Given the description of an element on the screen output the (x, y) to click on. 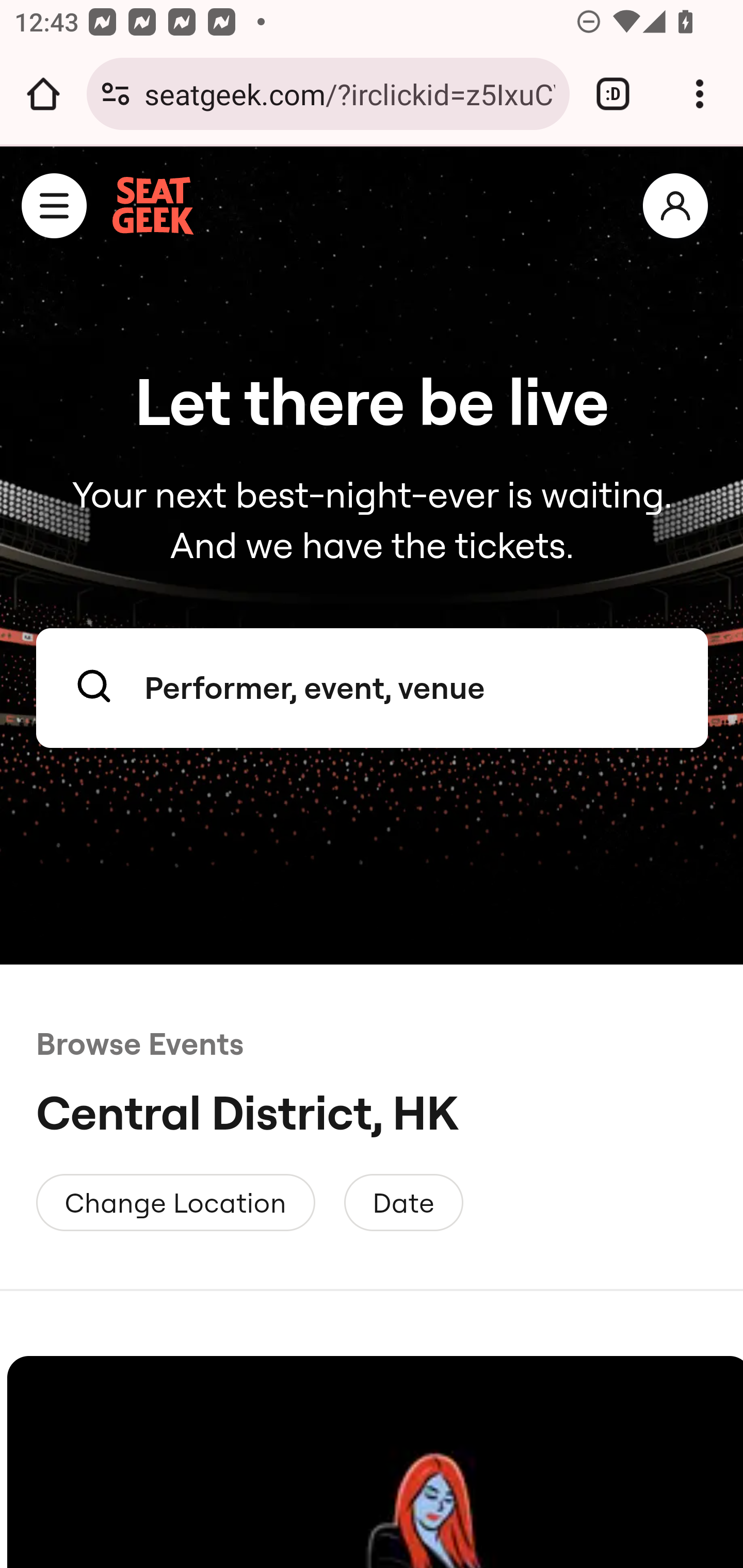
Open the home page (43, 93)
Connection is secure (115, 93)
Switch or close tabs (612, 93)
Customize and control Google Chrome (699, 93)
Homepage (154, 205)
What do you want to see live? (372, 688)
Change Location (175, 1201)
Date (403, 1201)
